Given the description of an element on the screen output the (x, y) to click on. 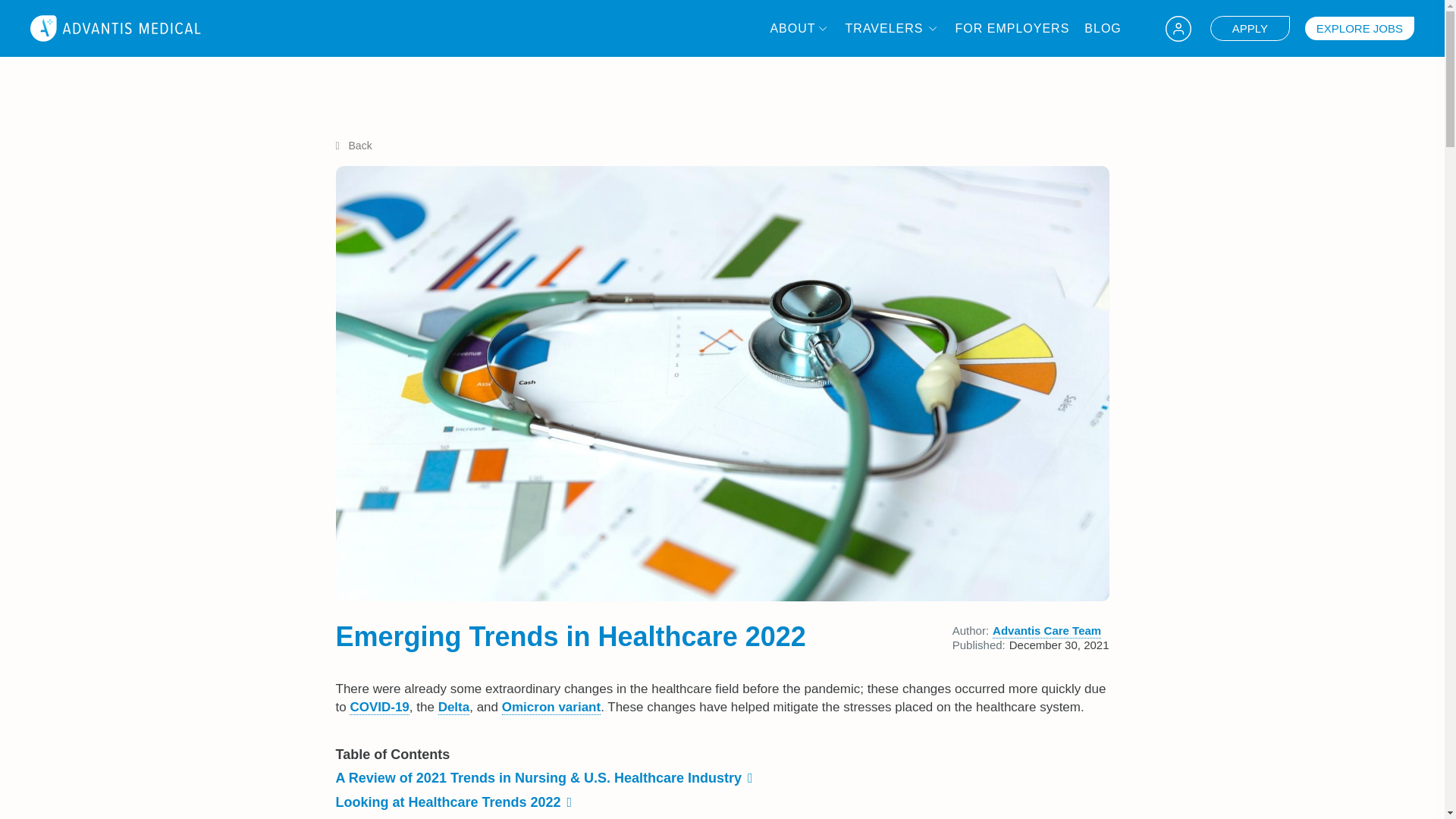
Advantis Care Team (1046, 631)
COVID-19 (379, 707)
Delta (454, 707)
Omicron variant (550, 707)
